Given the description of an element on the screen output the (x, y) to click on. 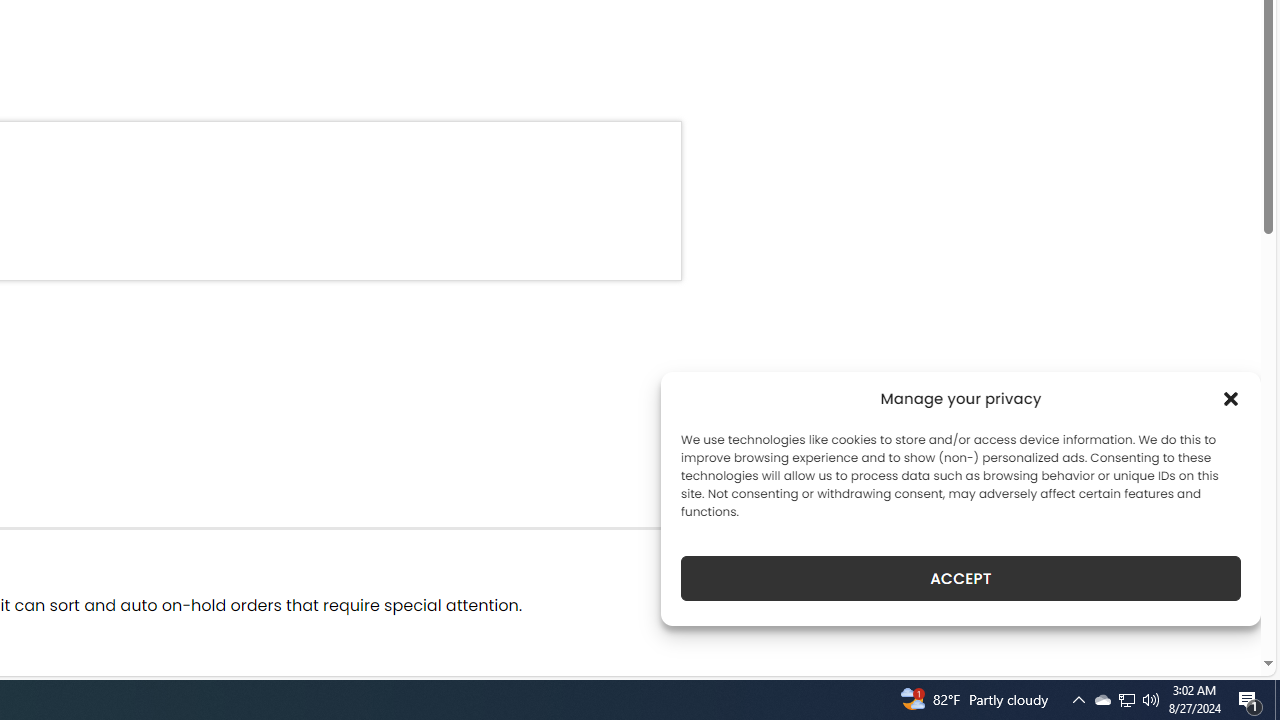
Class: cmplz-close (1231, 398)
ACCEPT (960, 578)
